Given the description of an element on the screen output the (x, y) to click on. 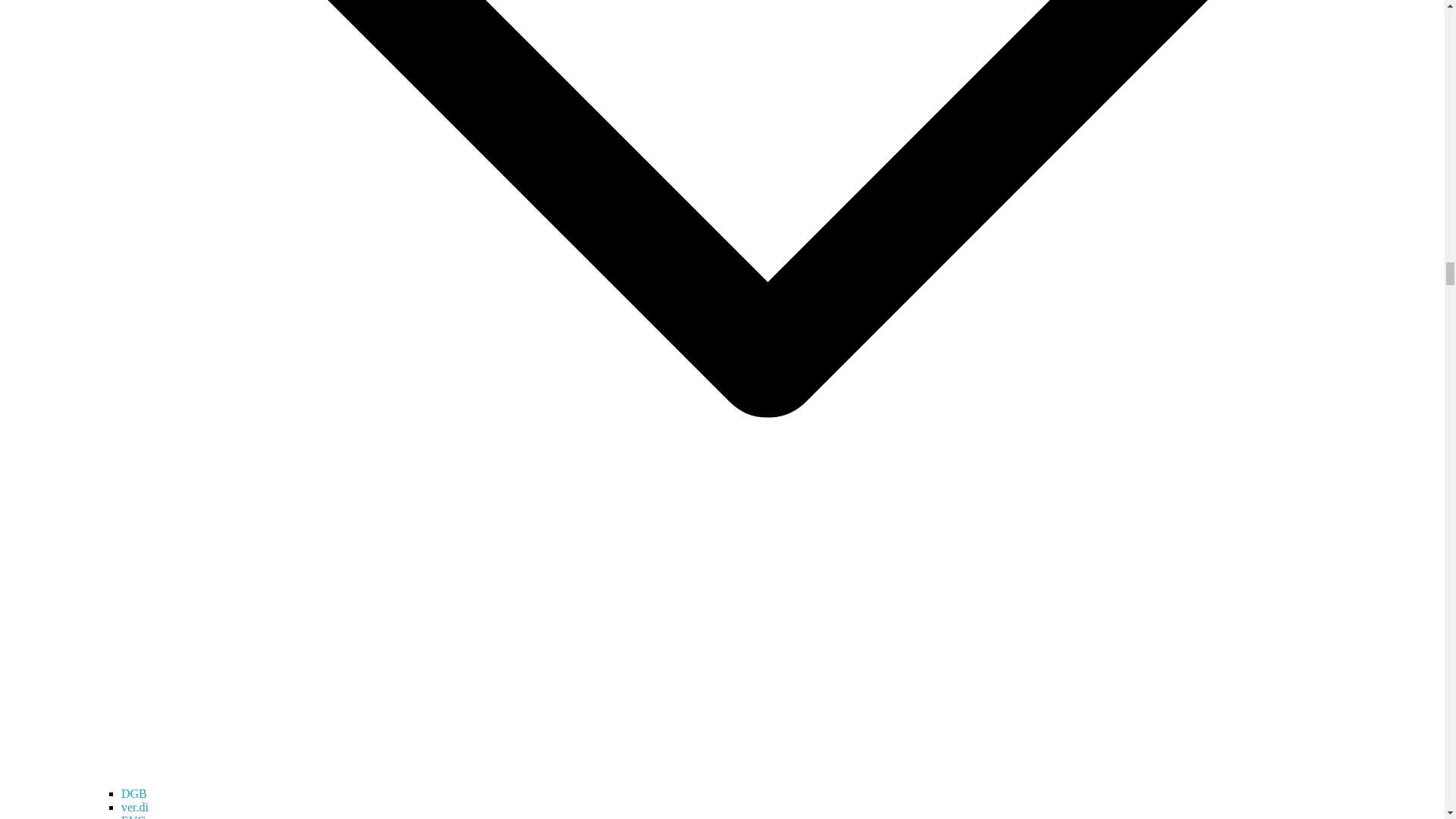
DGB (133, 793)
EVG (133, 816)
ver.di (134, 807)
